Given the description of an element on the screen output the (x, y) to click on. 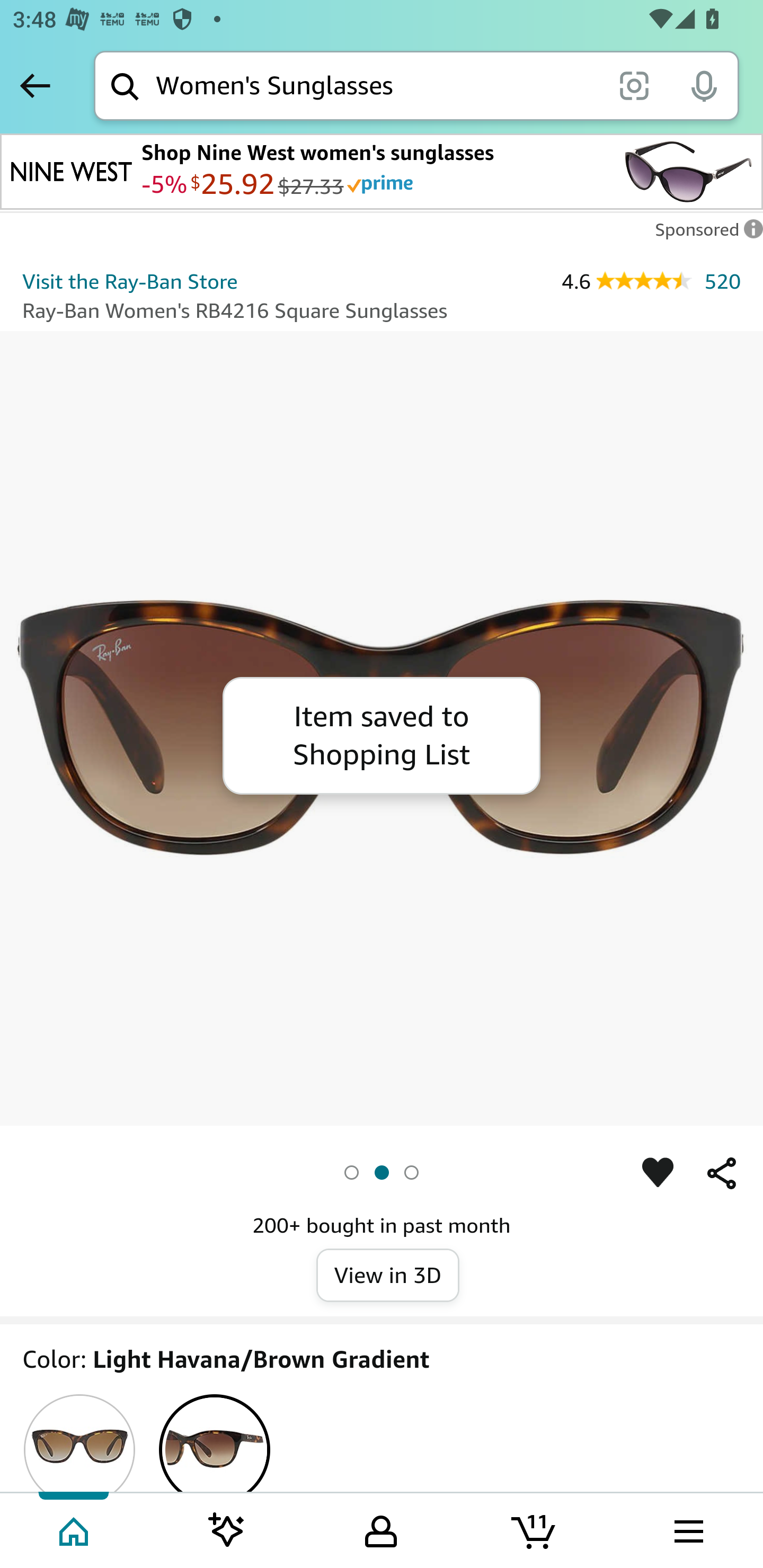
Back (35, 85)
scan it (633, 85)
Leave feedback on Sponsored ad Sponsored  (703, 234)
4.6 520 4.6  520 (650, 280)
Visit the Ray-Ban Store (130, 281)
Heart filled, item saved to list (657, 1173)
View in 3D (387, 1275)
Home Tab 1 of 5 (75, 1529)
Inspire feed Tab 2 of 5 (227, 1529)
Your Amazon.com Tab 3 of 5 (380, 1529)
Cart 11 items Tab 4 of 5 11 (534, 1529)
Browse menu Tab 5 of 5 (687, 1529)
